Given the description of an element on the screen output the (x, y) to click on. 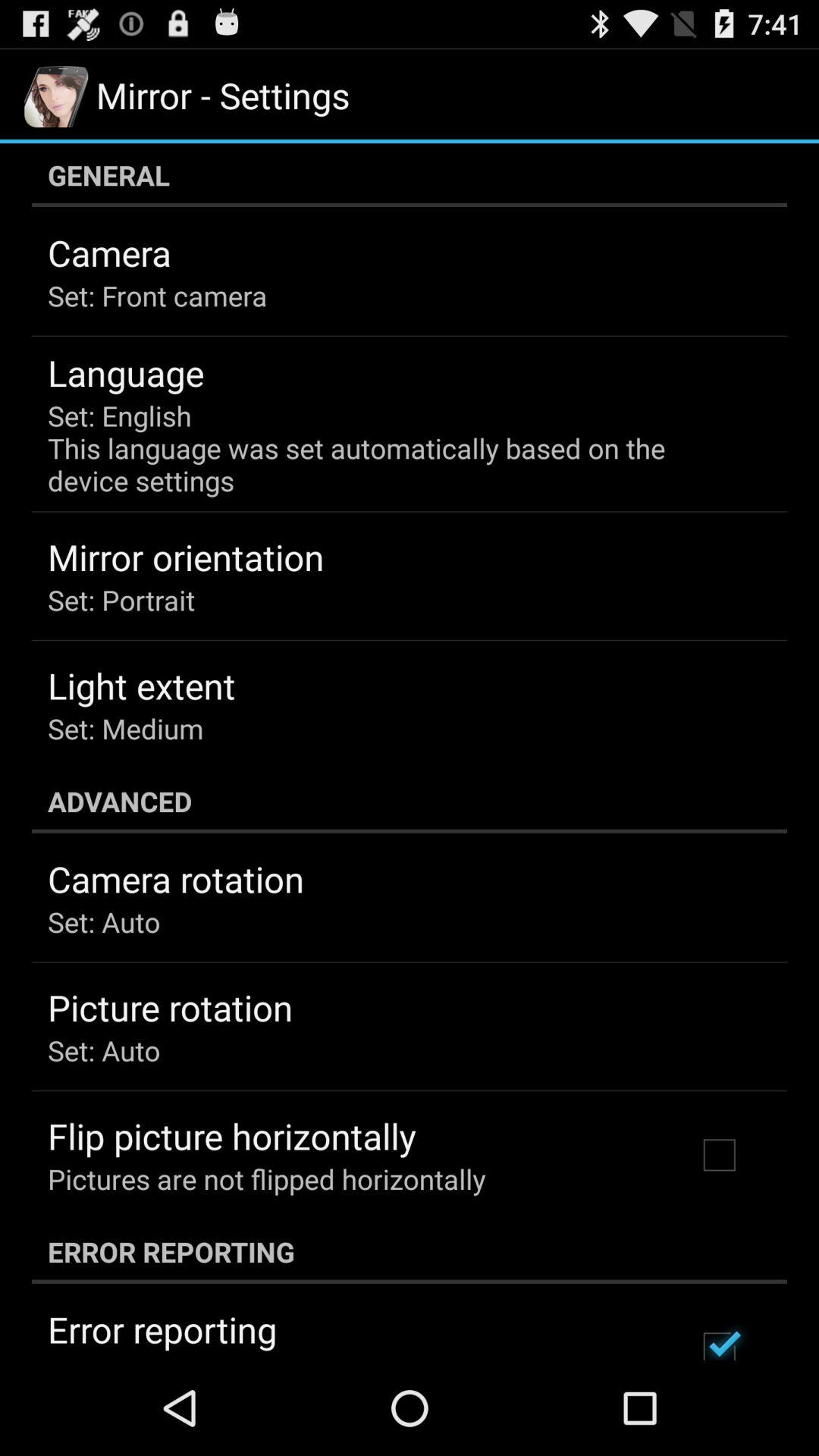
choose the camera rotation app (175, 878)
